Given the description of an element on the screen output the (x, y) to click on. 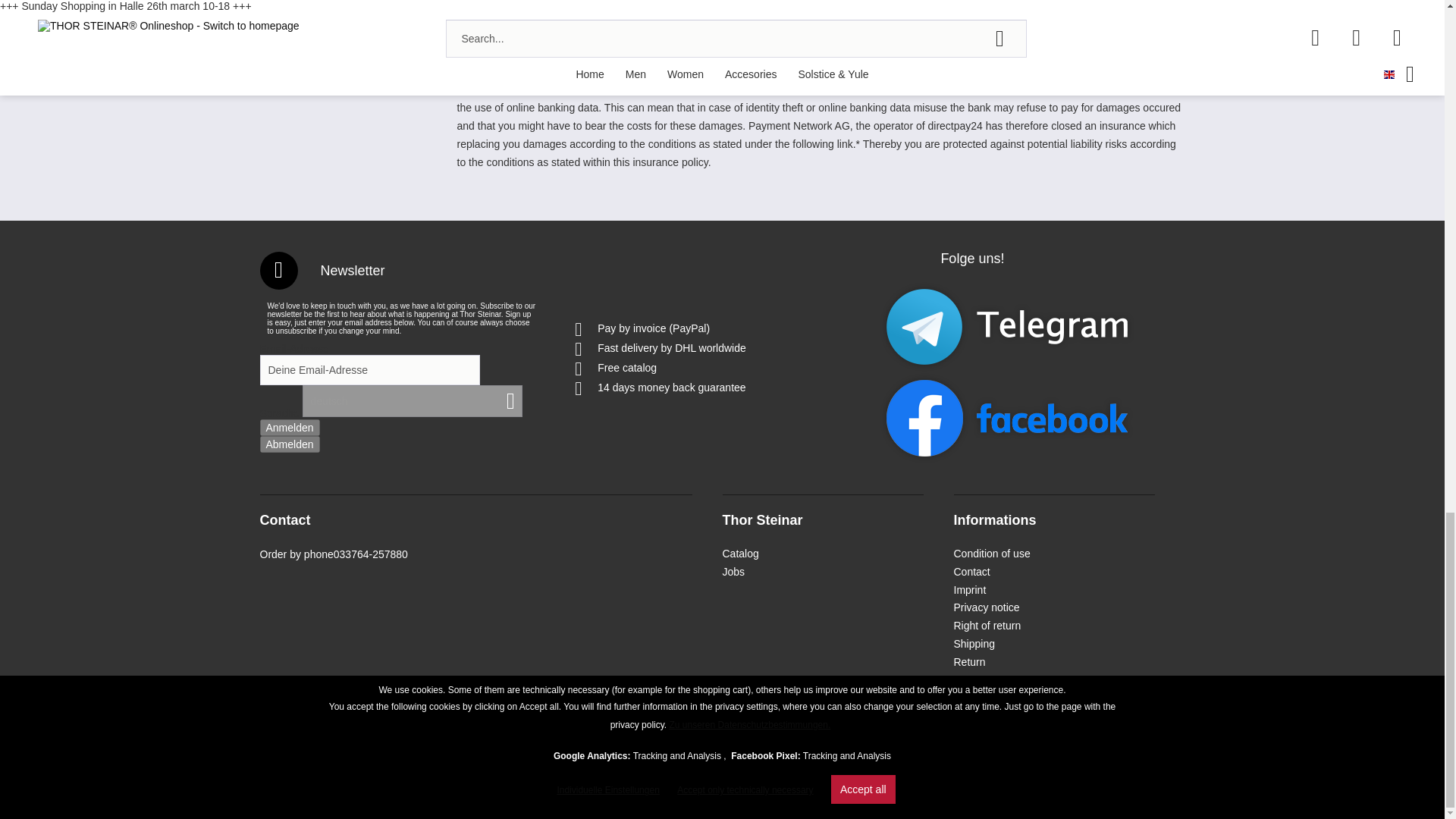
Deine Email-Adresse (369, 369)
Abmelden (288, 443)
Anmelden (288, 426)
